Given the description of an element on the screen output the (x, y) to click on. 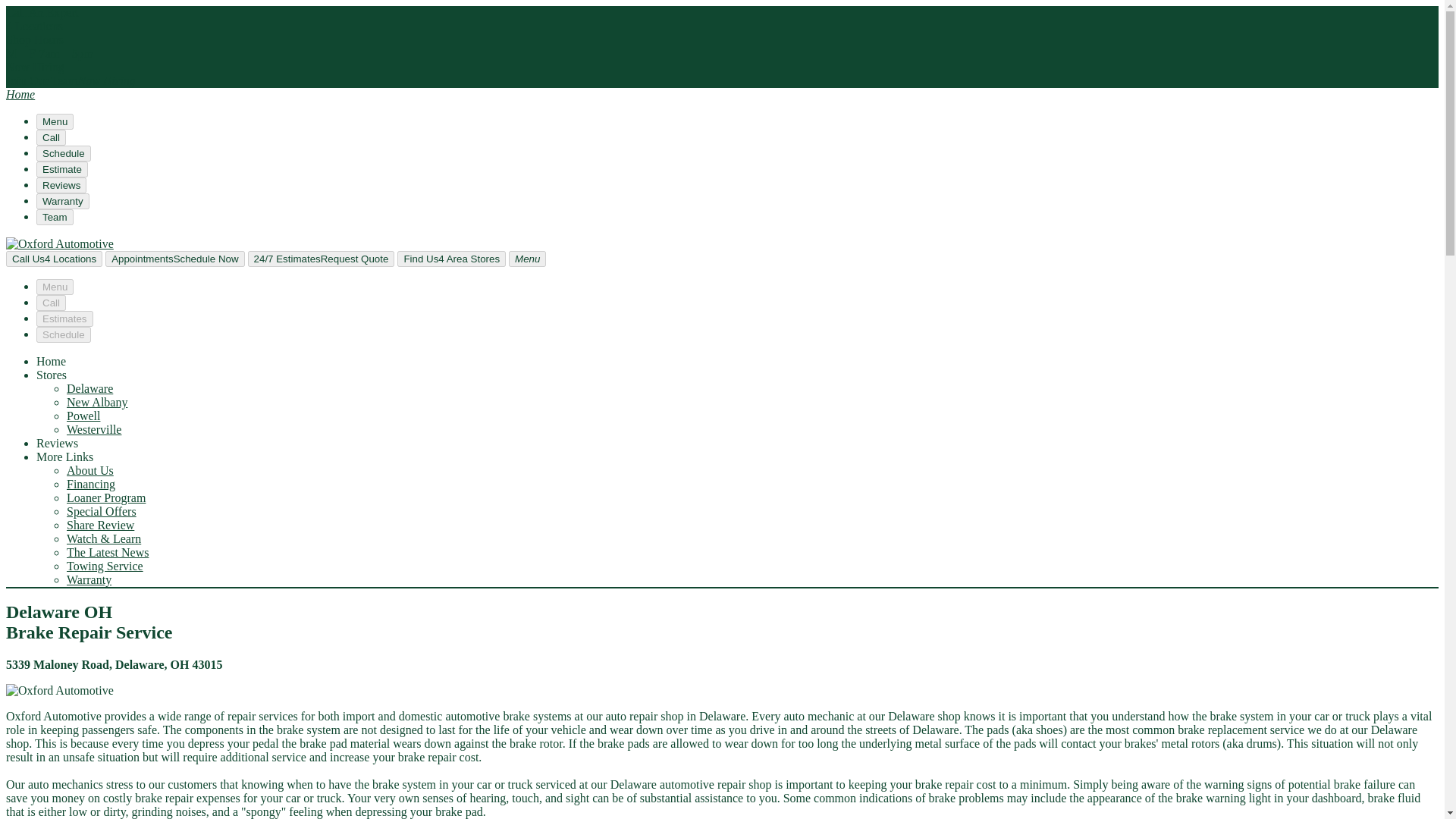
Call Us4 Locations (53, 258)
Schedule (63, 153)
Warranty (89, 579)
Powell (83, 415)
Join Our Team (106, 80)
Reviews (57, 442)
Stores (51, 374)
Vist Our Home Page (19, 93)
Loaner Program (105, 497)
About Us (89, 470)
